Given the description of an element on the screen output the (x, y) to click on. 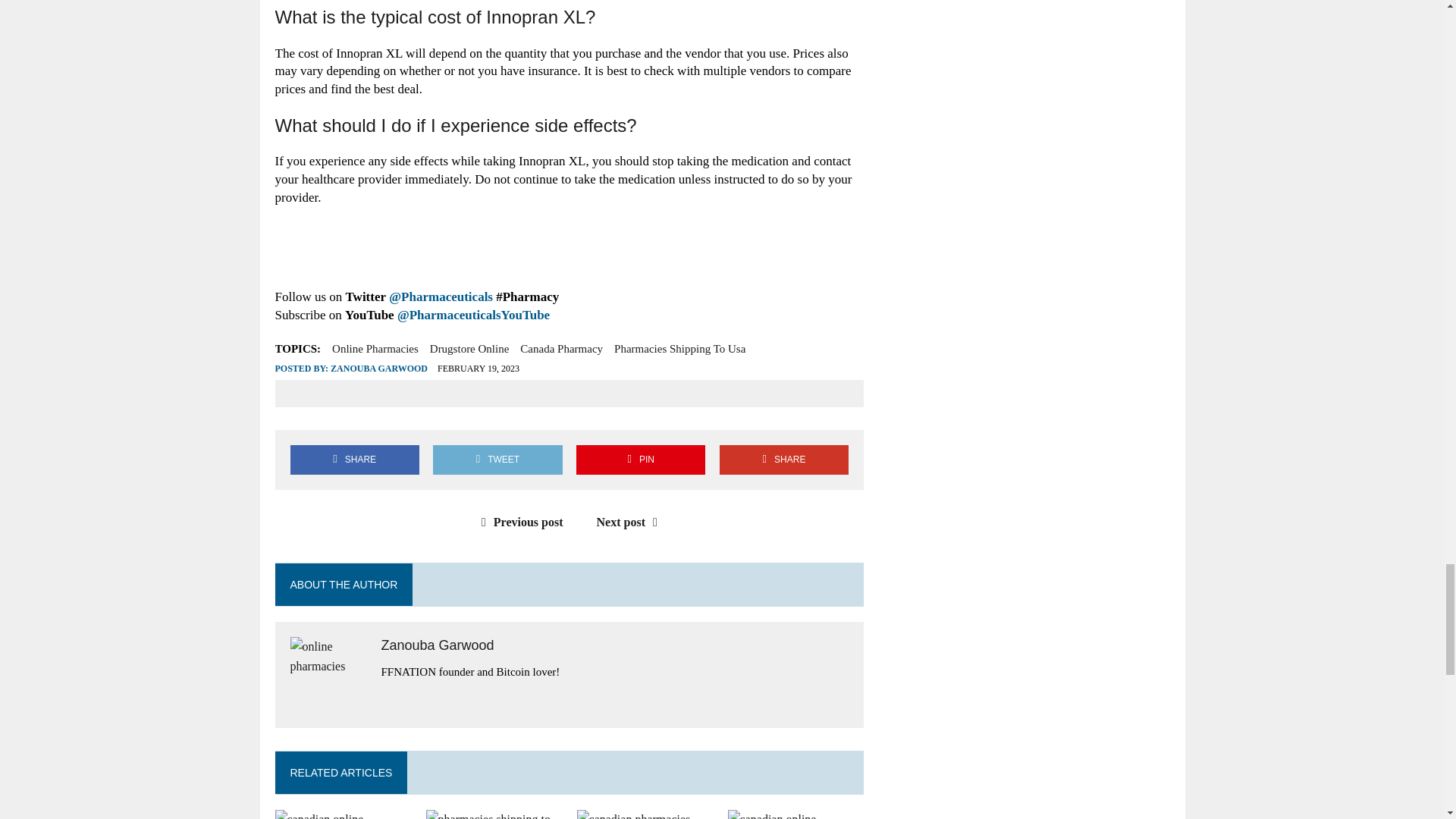
Online Pharmacies (375, 348)
TWEET (497, 460)
SHARE (783, 460)
PIN (640, 460)
Canada Pharmacy (560, 348)
ZANOUBA GARWOOD (379, 368)
Previous post (518, 521)
Tweet This Post (497, 460)
Pin This Post (640, 460)
Zanouba Garwood (436, 645)
SHARE (354, 460)
Share on Facebook (354, 460)
Next post (630, 521)
Pharmacies Shipping To Usa (679, 348)
Drugstore Online (469, 348)
